Given the description of an element on the screen output the (x, y) to click on. 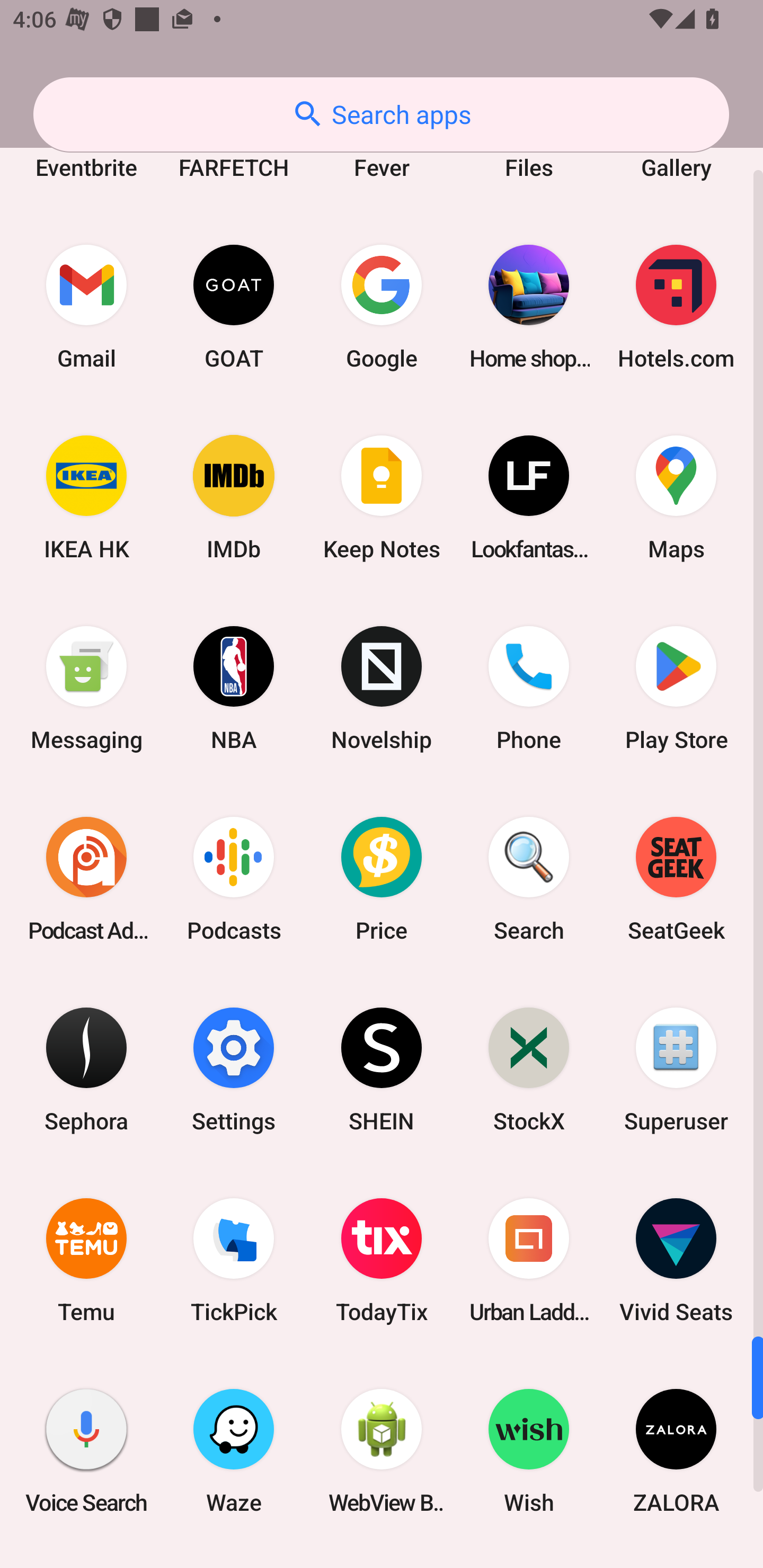
  Search apps (381, 114)
Gmail (86, 306)
GOAT (233, 306)
Google (381, 306)
Home shopping (528, 306)
Hotels.com (676, 306)
IKEA HK (86, 496)
IMDb (233, 496)
Keep Notes (381, 496)
Lookfantastic (528, 496)
Maps (676, 496)
Messaging (86, 688)
NBA (233, 688)
Novelship (381, 688)
Phone (528, 688)
Play Store (676, 688)
Podcast Addict (86, 878)
Podcasts (233, 878)
Price (381, 878)
Search (528, 878)
SeatGeek (676, 878)
Sephora (86, 1069)
Settings (233, 1069)
SHEIN (381, 1069)
StockX (528, 1069)
Superuser (676, 1069)
Temu (86, 1260)
TickPick (233, 1260)
TodayTix (381, 1260)
Urban Ladder (528, 1260)
Vivid Seats (676, 1260)
Voice Search (86, 1451)
Waze (233, 1451)
WebView Browser Tester (381, 1451)
Wish (528, 1451)
ZALORA (676, 1451)
